Given the description of an element on the screen output the (x, y) to click on. 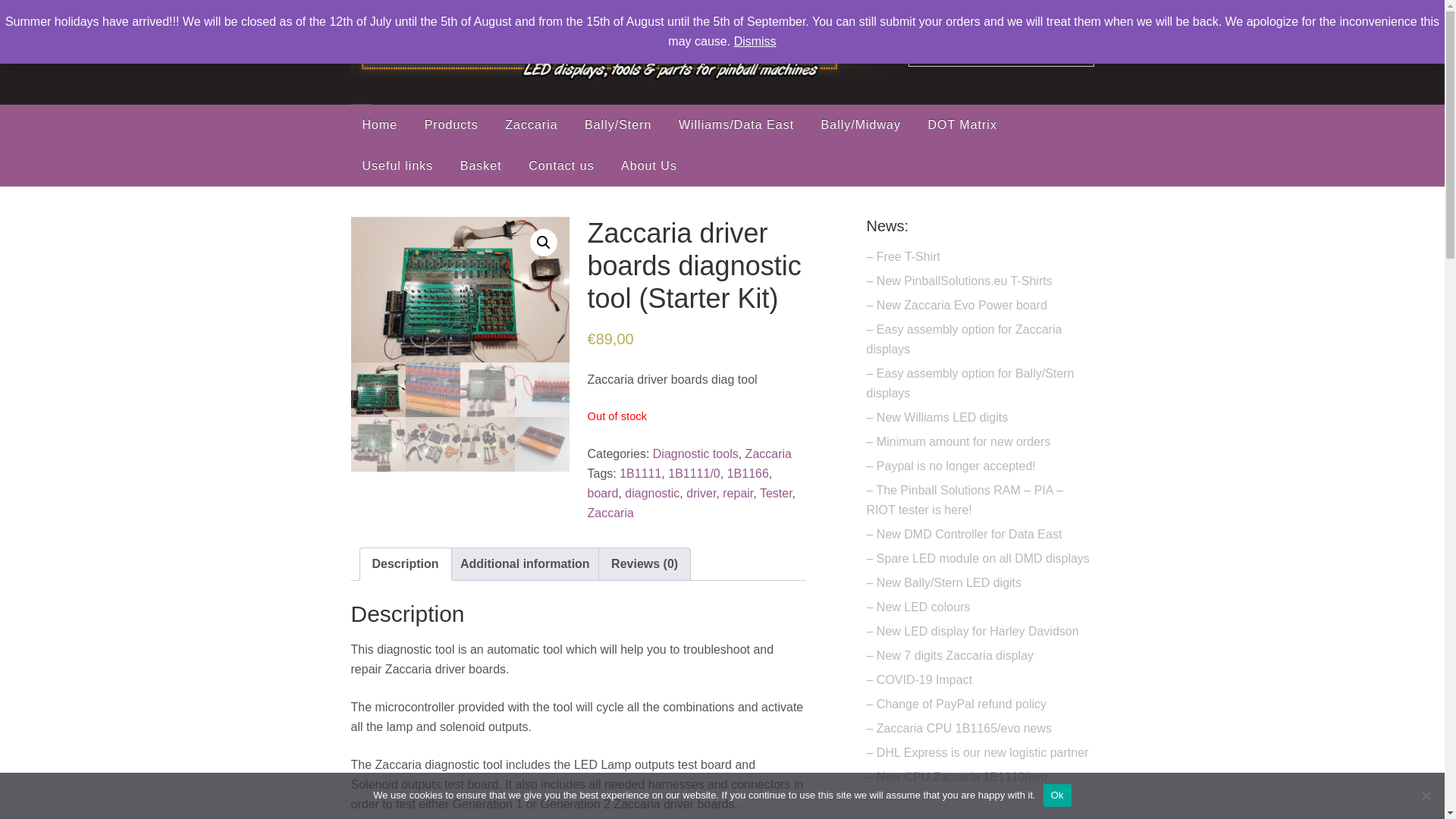
1B1111 (640, 472)
Search for: (1001, 51)
Zaccaria (768, 453)
Useful links (397, 165)
DOT Matrix (961, 124)
1B1166 (747, 472)
Zaccaria (531, 124)
Products (451, 124)
Diagnostic tools (695, 453)
Pinball Solutions (628, 80)
About Us (649, 165)
No (1425, 795)
Home (379, 124)
Basket (480, 165)
Contact us (560, 165)
